Given the description of an element on the screen output the (x, y) to click on. 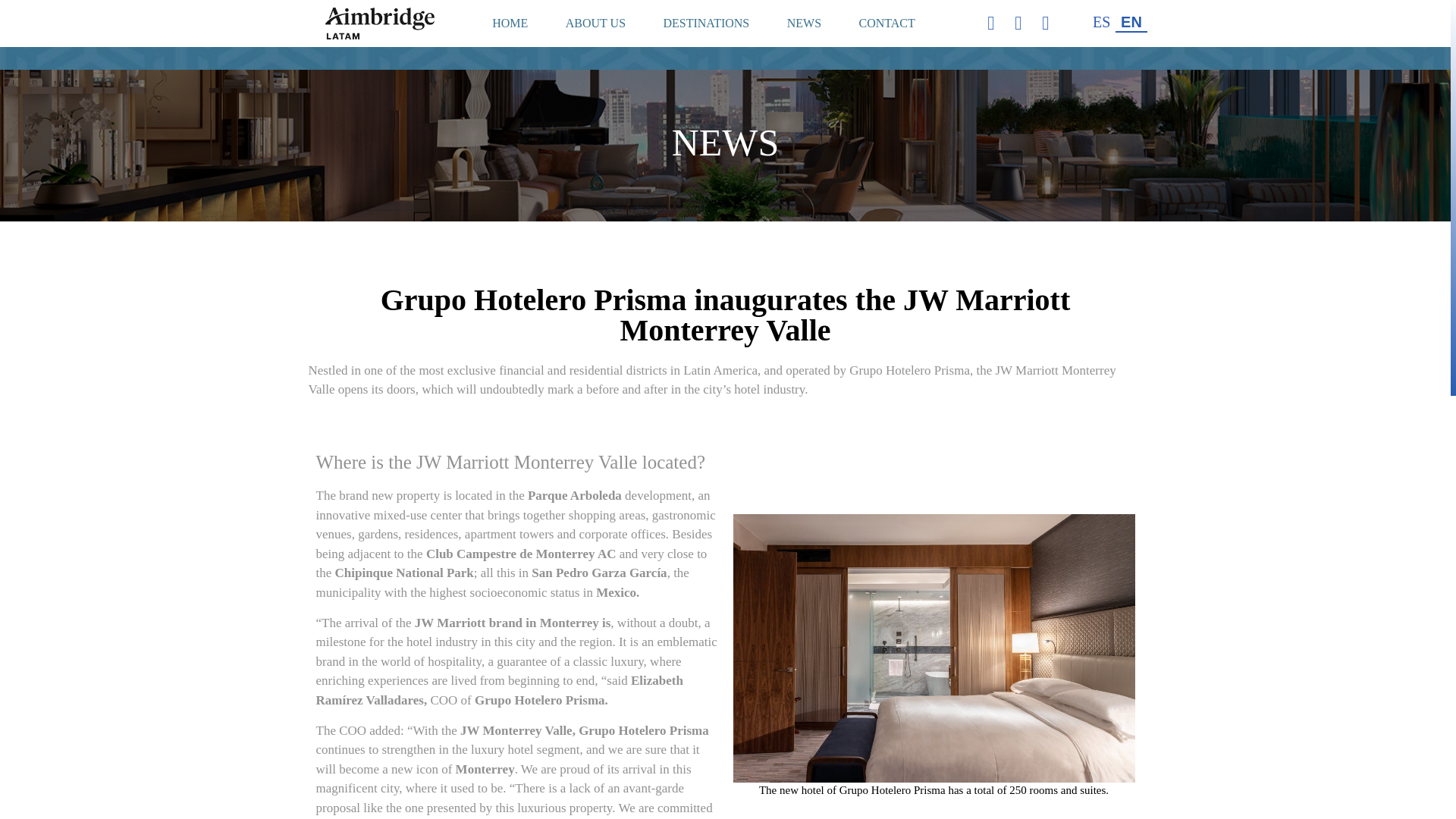
DESTINATIONS (706, 23)
ES (1101, 22)
NEWS (804, 23)
EN (1131, 22)
CONTACT (887, 23)
HOME (510, 23)
ABOUT US (596, 23)
